Given the description of an element on the screen output the (x, y) to click on. 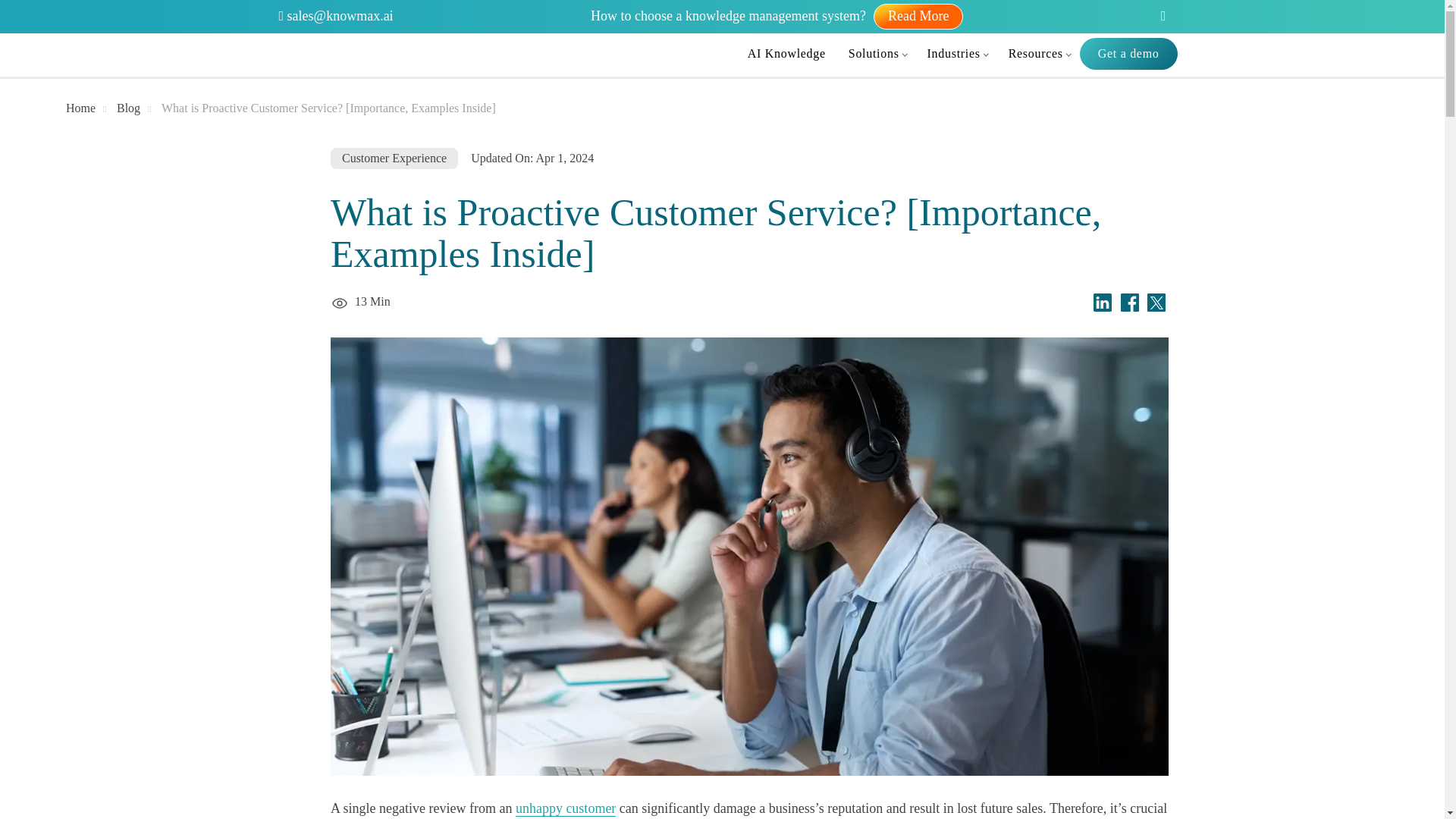
Industries (956, 53)
Read More (917, 15)
AI Knowledge (786, 53)
Get a demo (1128, 53)
Blog (127, 107)
Solutions (876, 53)
Home (80, 107)
Resources (1038, 53)
Read More (917, 16)
